Given the description of an element on the screen output the (x, y) to click on. 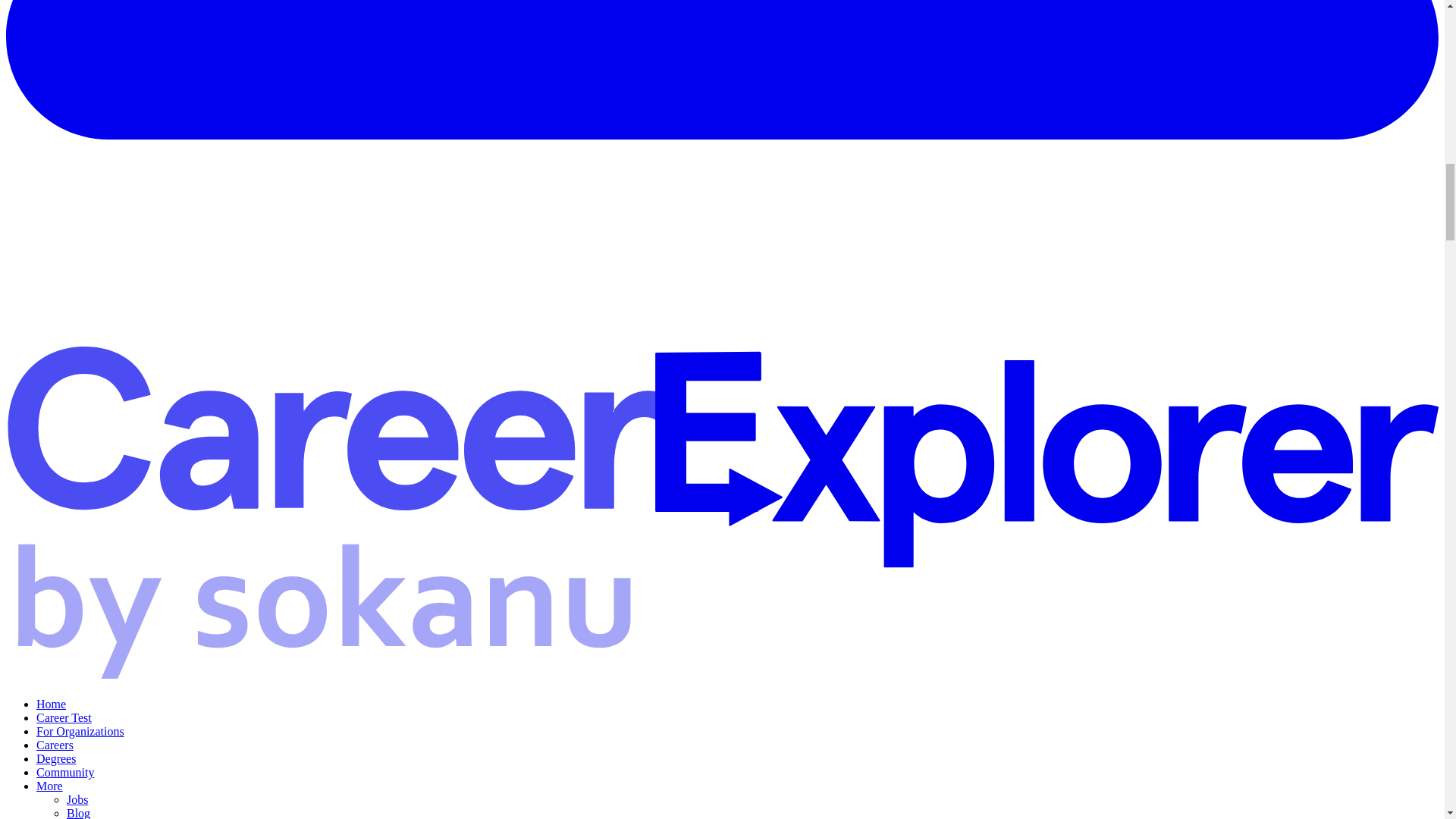
Community (65, 771)
Careers (55, 744)
Home (50, 703)
Degrees (55, 758)
Blog (78, 812)
Jobs (76, 799)
Career Test (63, 717)
For Organizations (79, 730)
More (49, 785)
